Given the description of an element on the screen output the (x, y) to click on. 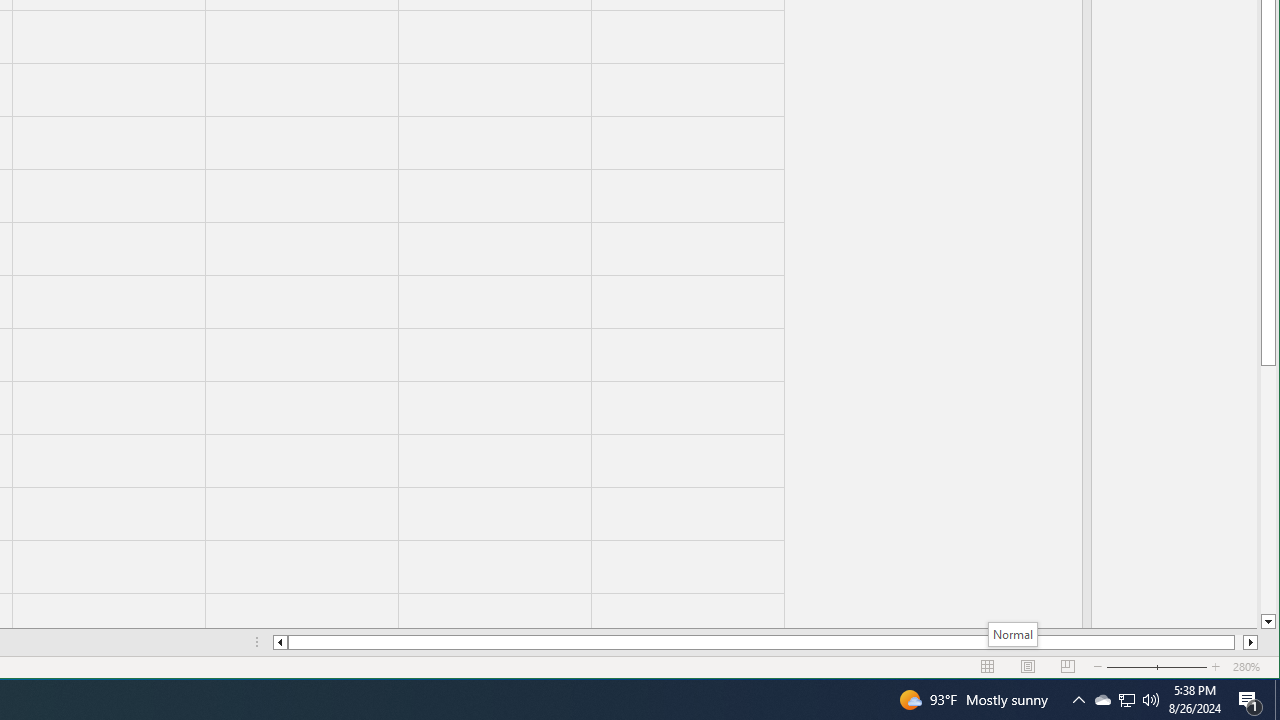
Column right (1250, 642)
Action Center, 1 new notification (1250, 699)
Q2790: 100% (1151, 699)
User Promoted Notification Area (1126, 699)
Zoom In (1215, 667)
Class: NetUIScrollBar (765, 642)
Page down (1268, 489)
Zoom (1157, 667)
Line down (1268, 622)
Column left (279, 642)
